Given the description of an element on the screen output the (x, y) to click on. 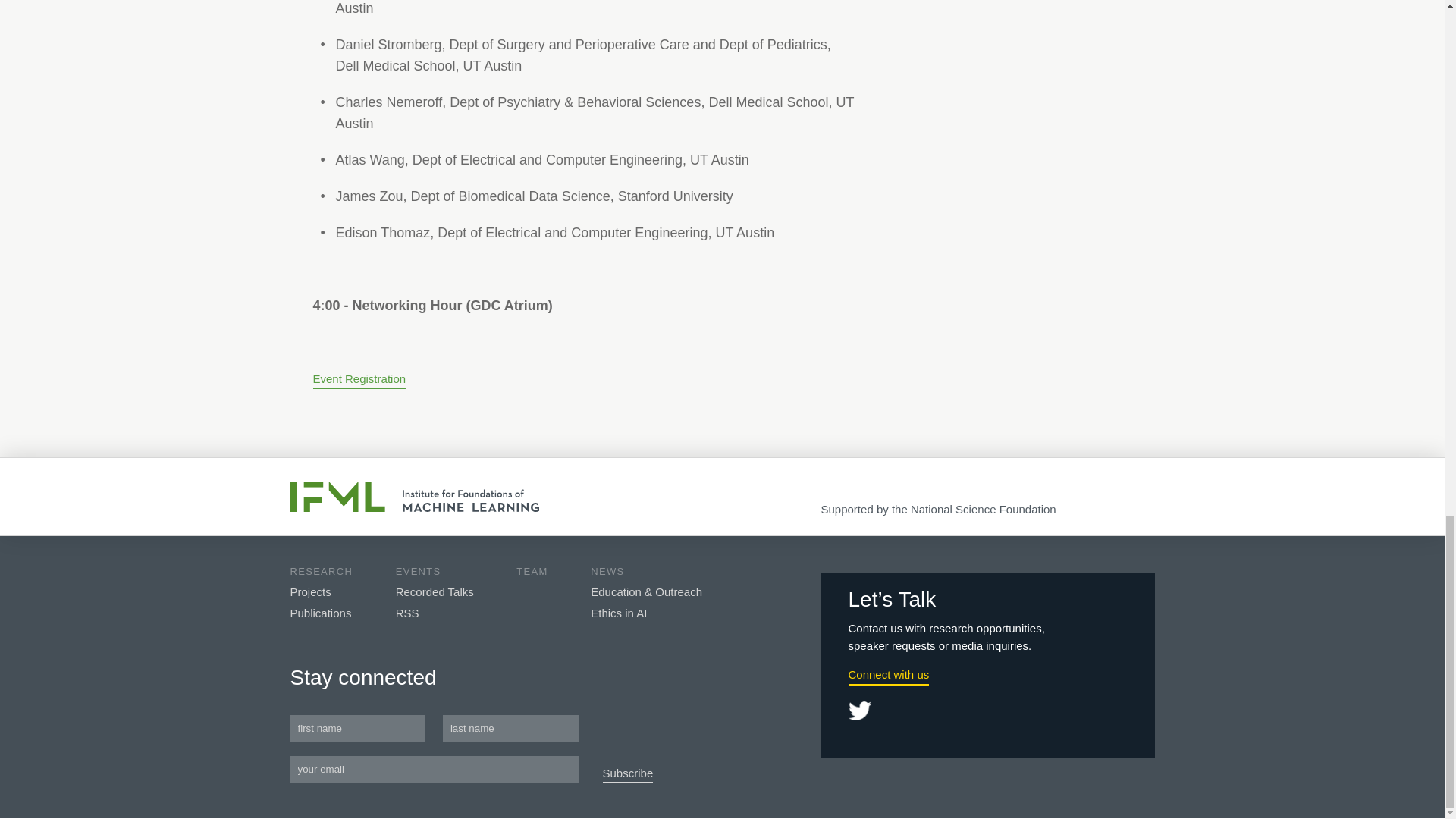
RSS (407, 612)
Supported by the National Science Foundation (938, 508)
RESEARCH (320, 571)
Publications (319, 612)
Recorded Talks (435, 591)
Projects (309, 591)
Subscribe (627, 774)
Event Registration (359, 381)
EVENTS (418, 571)
